Given the description of an element on the screen output the (x, y) to click on. 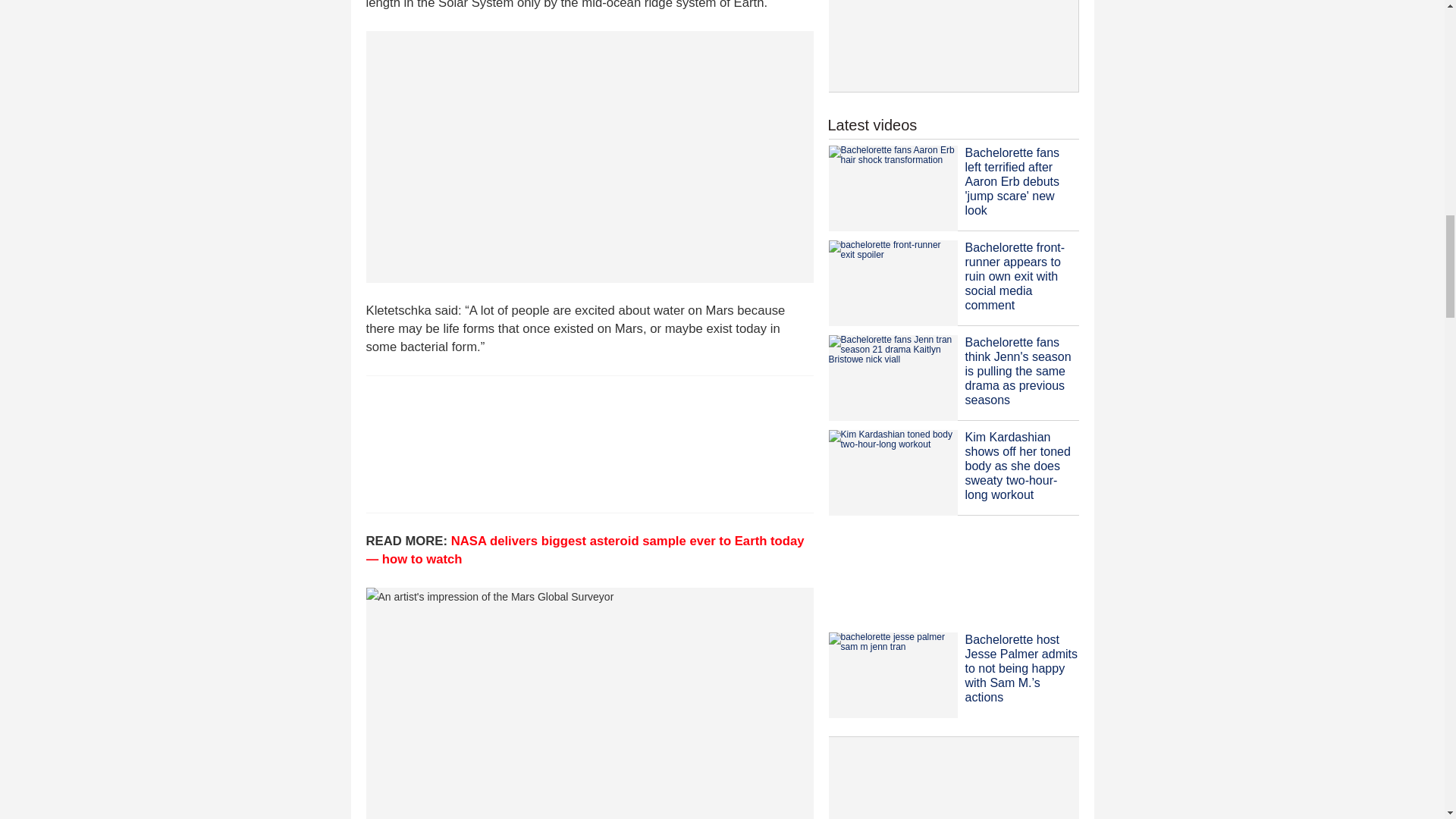
An artist's impression of the Mars Global Surveyor (588, 703)
bachelorette front-runner exit spoiler (892, 282)
bachelorette jesse palmer sam m jenn tran (892, 675)
Bachelorette fans Aaron Erb hair shock transformation  (892, 187)
Kim Kardashian toned body two-hour-long workout (892, 472)
